Given the description of an element on the screen output the (x, y) to click on. 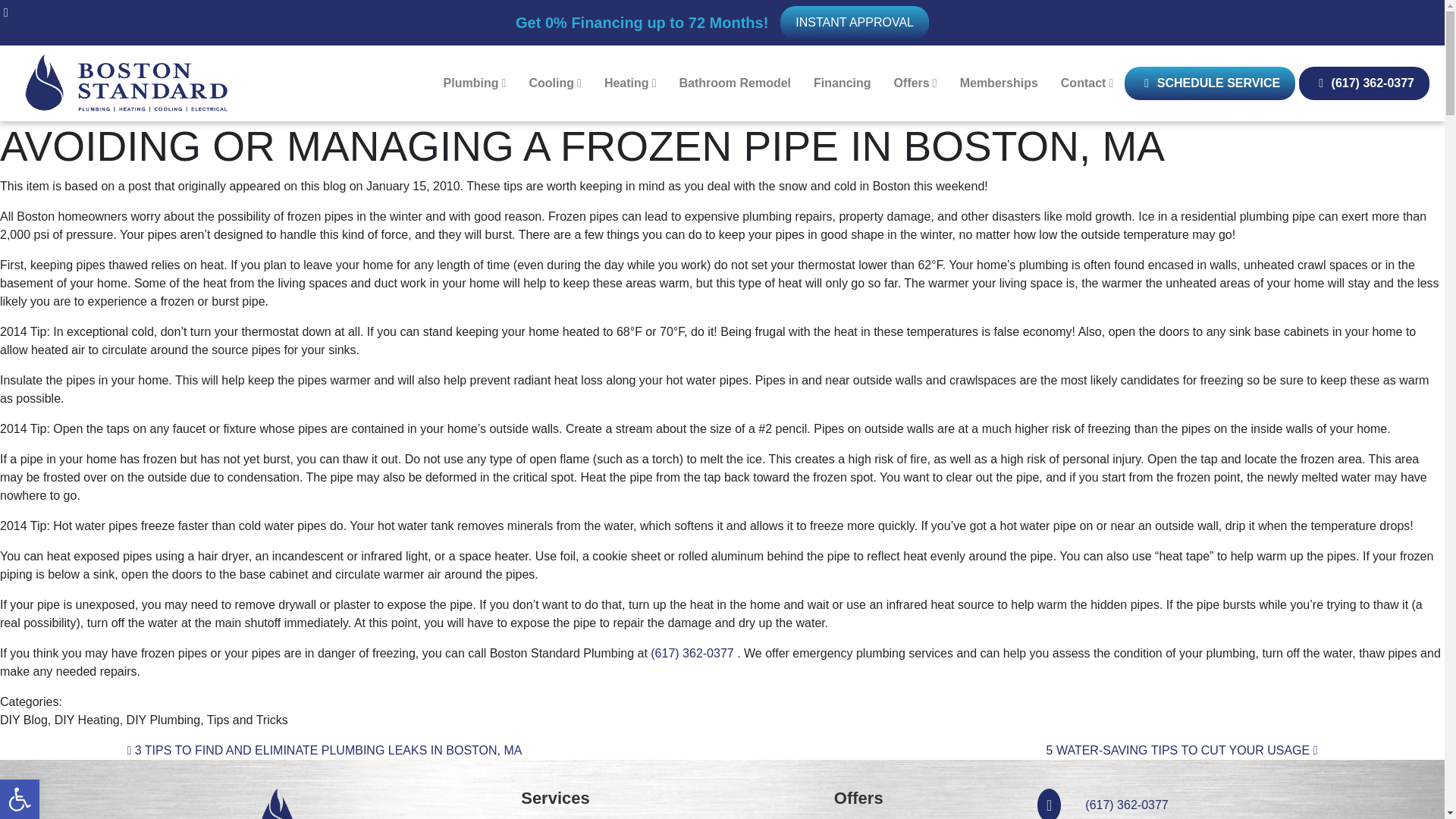
Accessibility Tools (19, 799)
INSTANT APPROVAL (19, 799)
Plumbing (854, 22)
Accessibility Tools (475, 82)
Plumbing (19, 799)
